Given the description of an element on the screen output the (x, y) to click on. 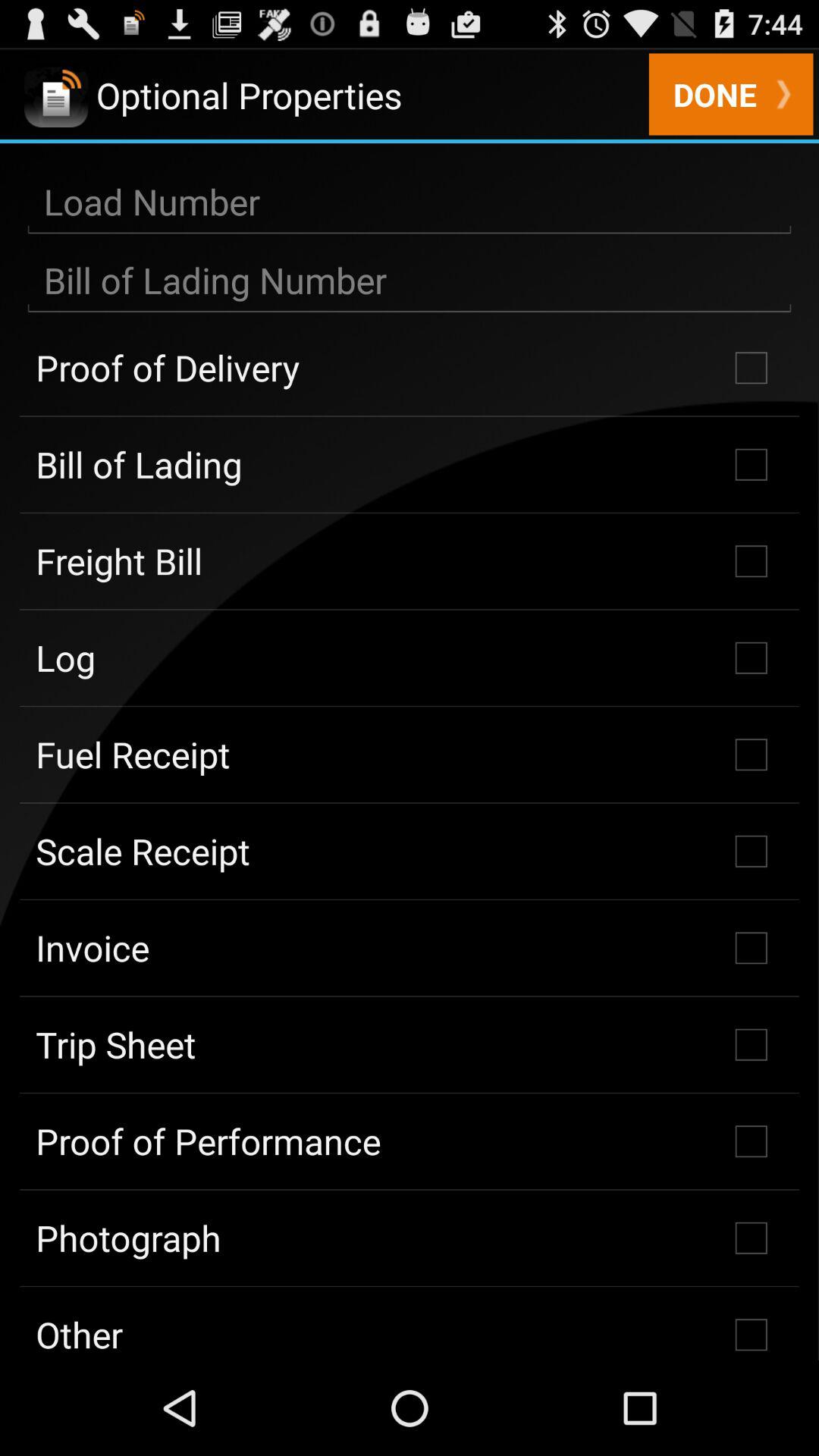
click item below the scale receipt icon (409, 947)
